Given the description of an element on the screen output the (x, y) to click on. 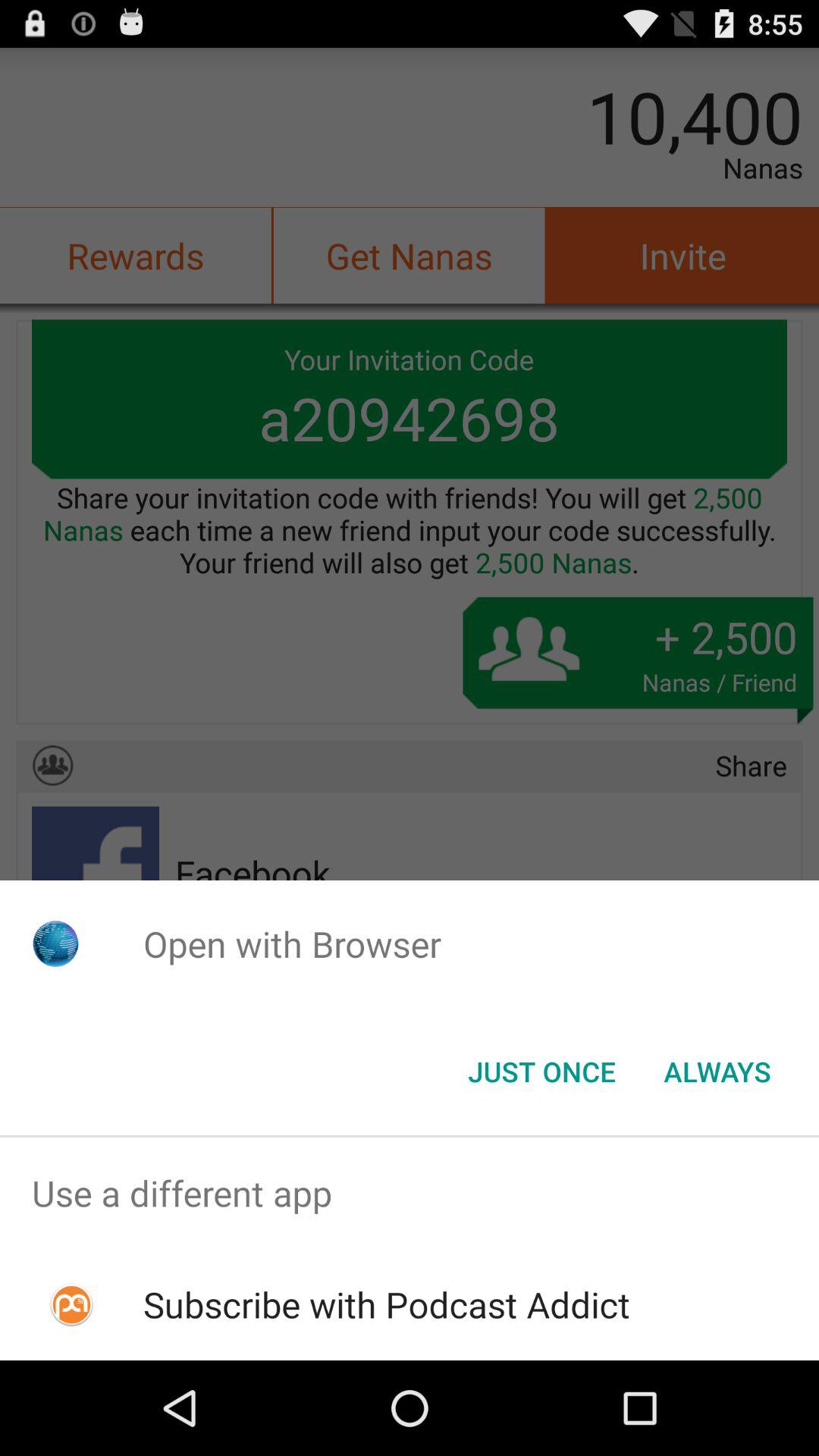
open icon next to always (541, 1071)
